Given the description of an element on the screen output the (x, y) to click on. 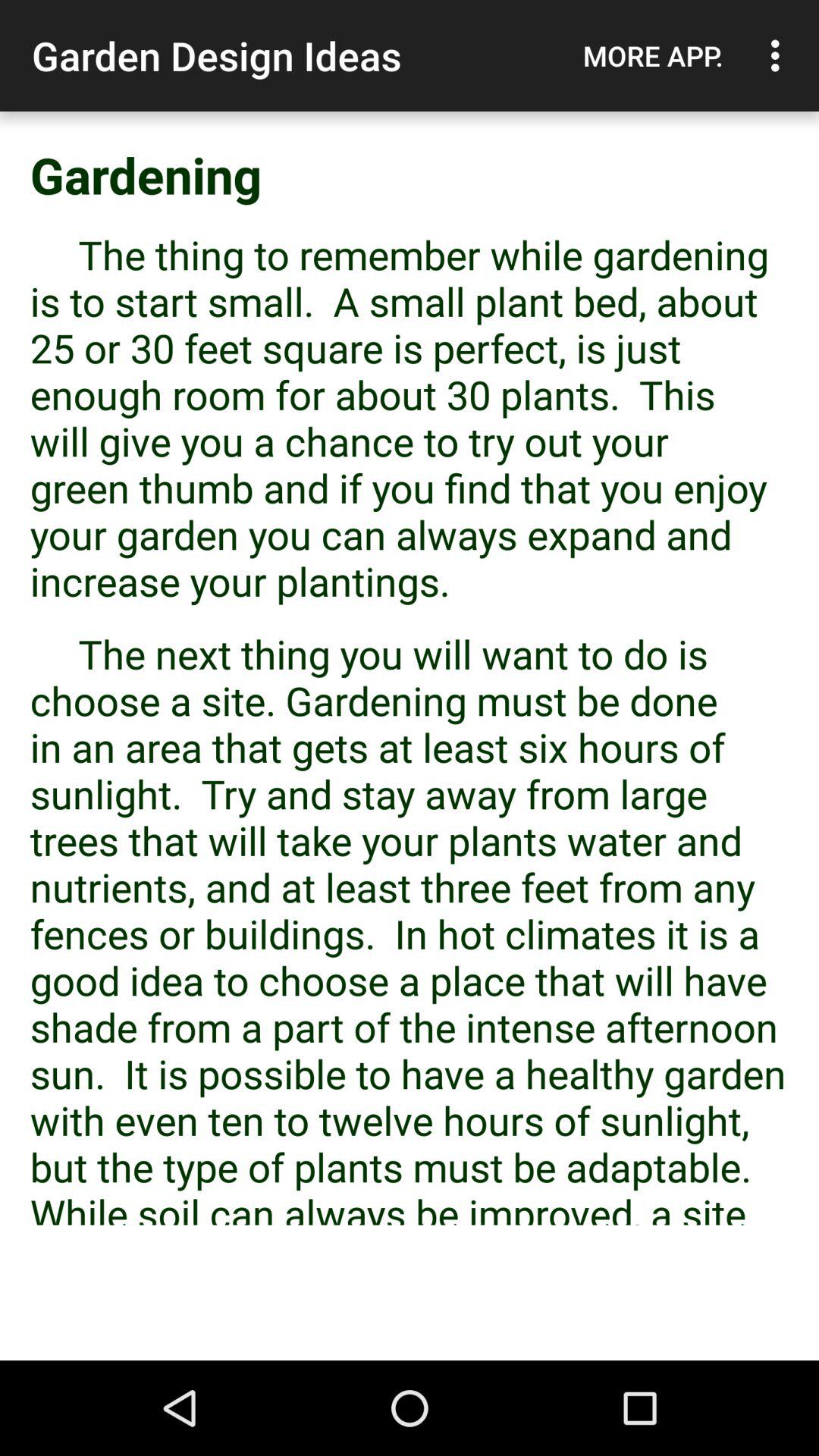
press icon to the right of the more app. item (779, 55)
